Given the description of an element on the screen output the (x, y) to click on. 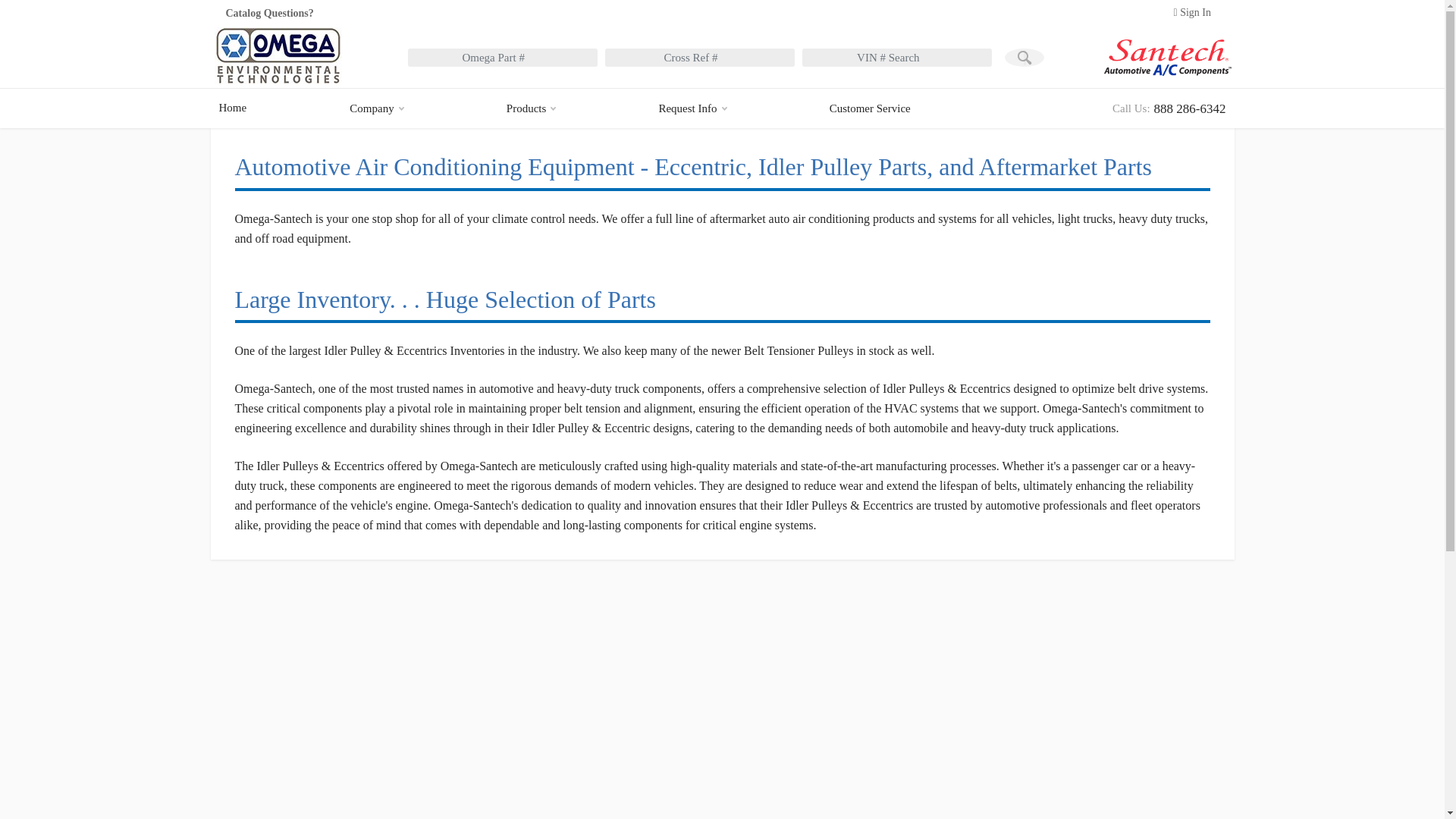
Catalog Questions? (286, 13)
Customer Service (874, 108)
Request Info (1168, 108)
Home (691, 108)
Sign In (233, 108)
Search Button (1192, 13)
Products (1024, 57)
Company (530, 108)
